Given the description of an element on the screen output the (x, y) to click on. 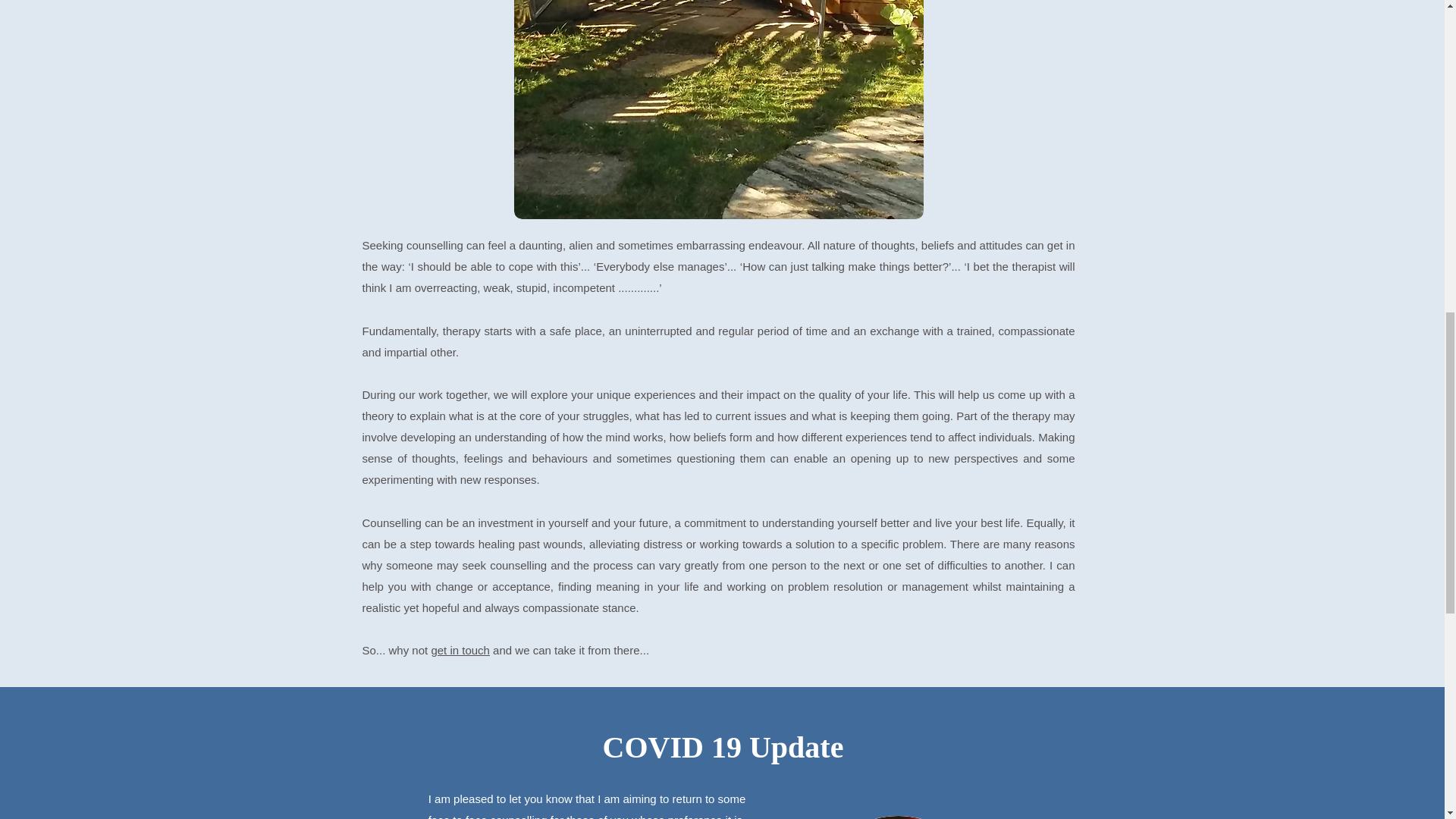
get in touch (459, 649)
